Given the description of an element on the screen output the (x, y) to click on. 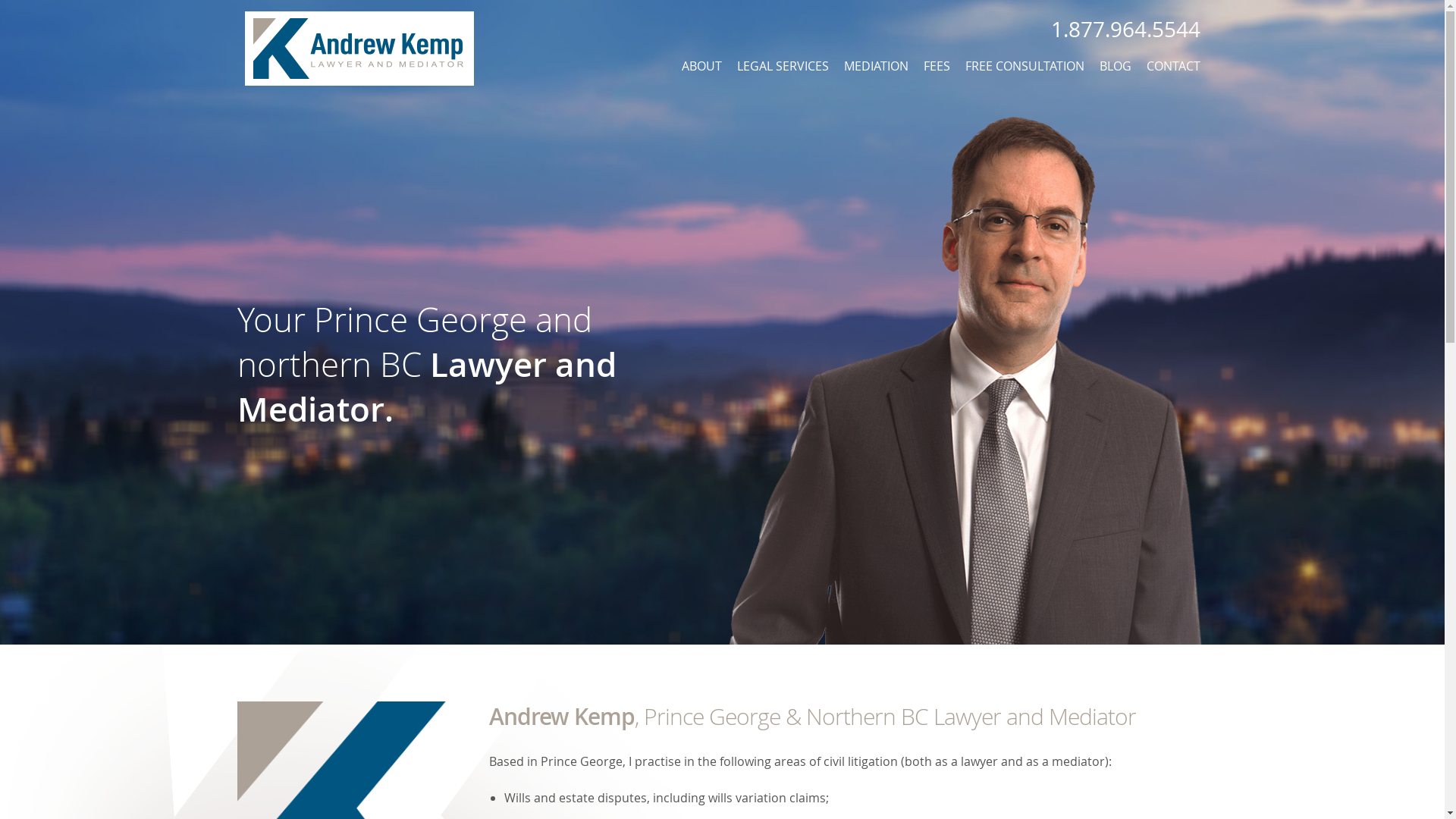
FREE CONSULTATION Element type: text (1024, 65)
MEDIATION Element type: text (875, 65)
LEGAL SERVICES Element type: text (782, 65)
ABOUT Element type: text (700, 65)
CONTACT Element type: text (1173, 65)
FEES Element type: text (936, 65)
BLOG Element type: text (1115, 65)
